Given the description of an element on the screen output the (x, y) to click on. 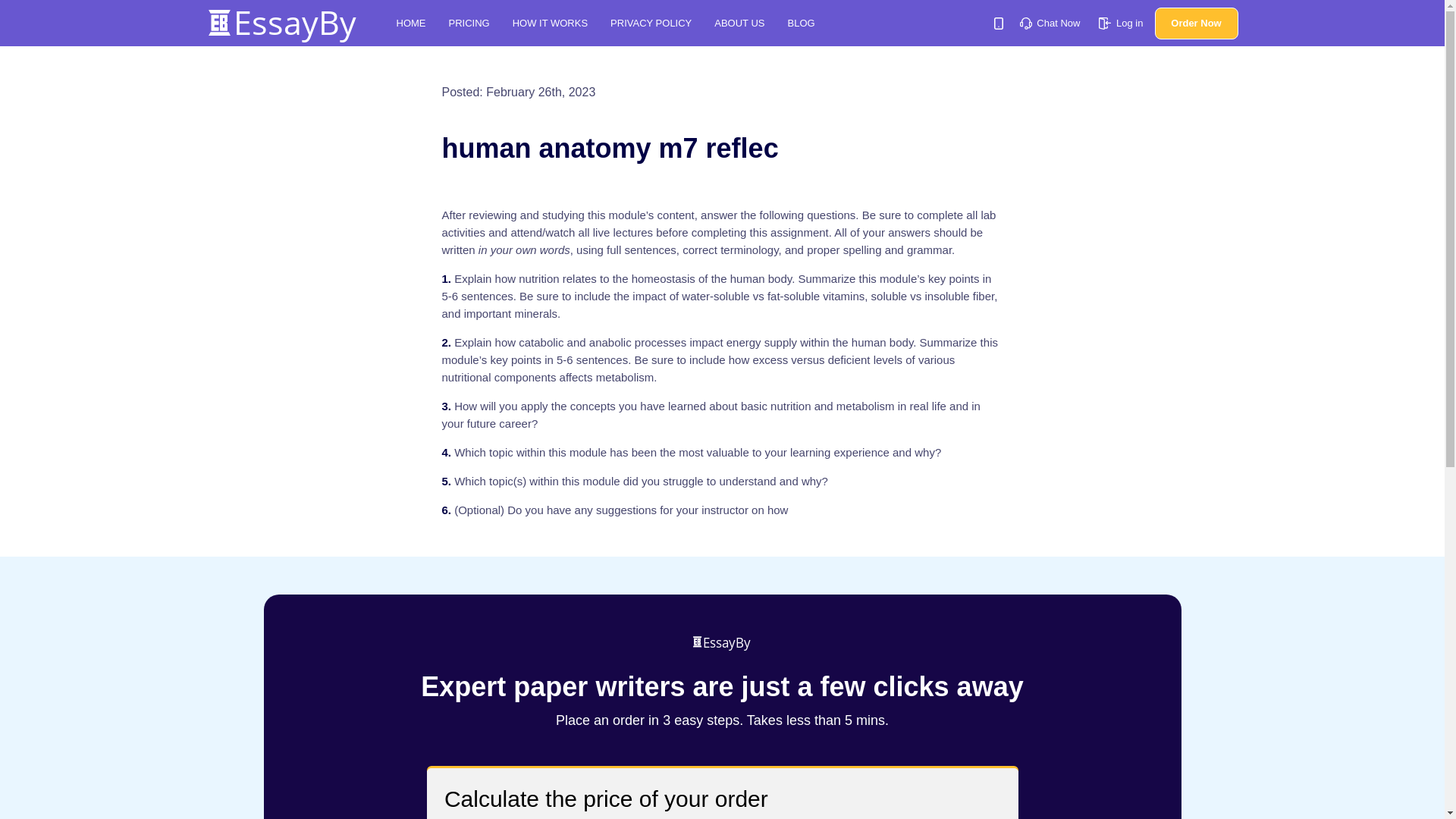
PRIVACY POLICY (650, 22)
HOW IT WORKS (550, 22)
Chat Now (1050, 22)
PRICING (468, 22)
ABOUT US (739, 22)
Log in (1120, 22)
HOME (410, 22)
BLOG (800, 22)
Order Now (1195, 23)
